Given the description of an element on the screen output the (x, y) to click on. 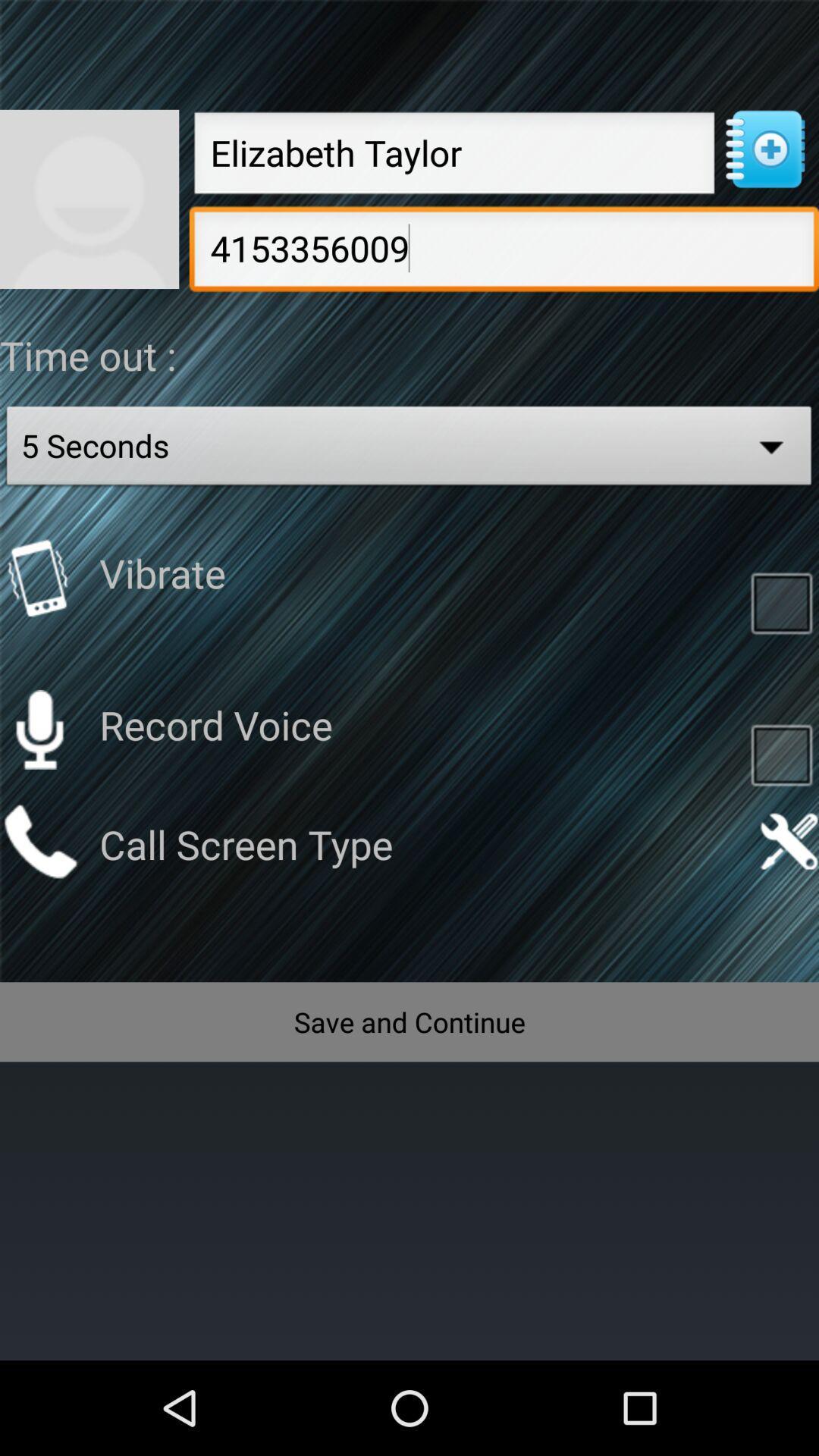
address book (764, 149)
